Given the description of an element on the screen output the (x, y) to click on. 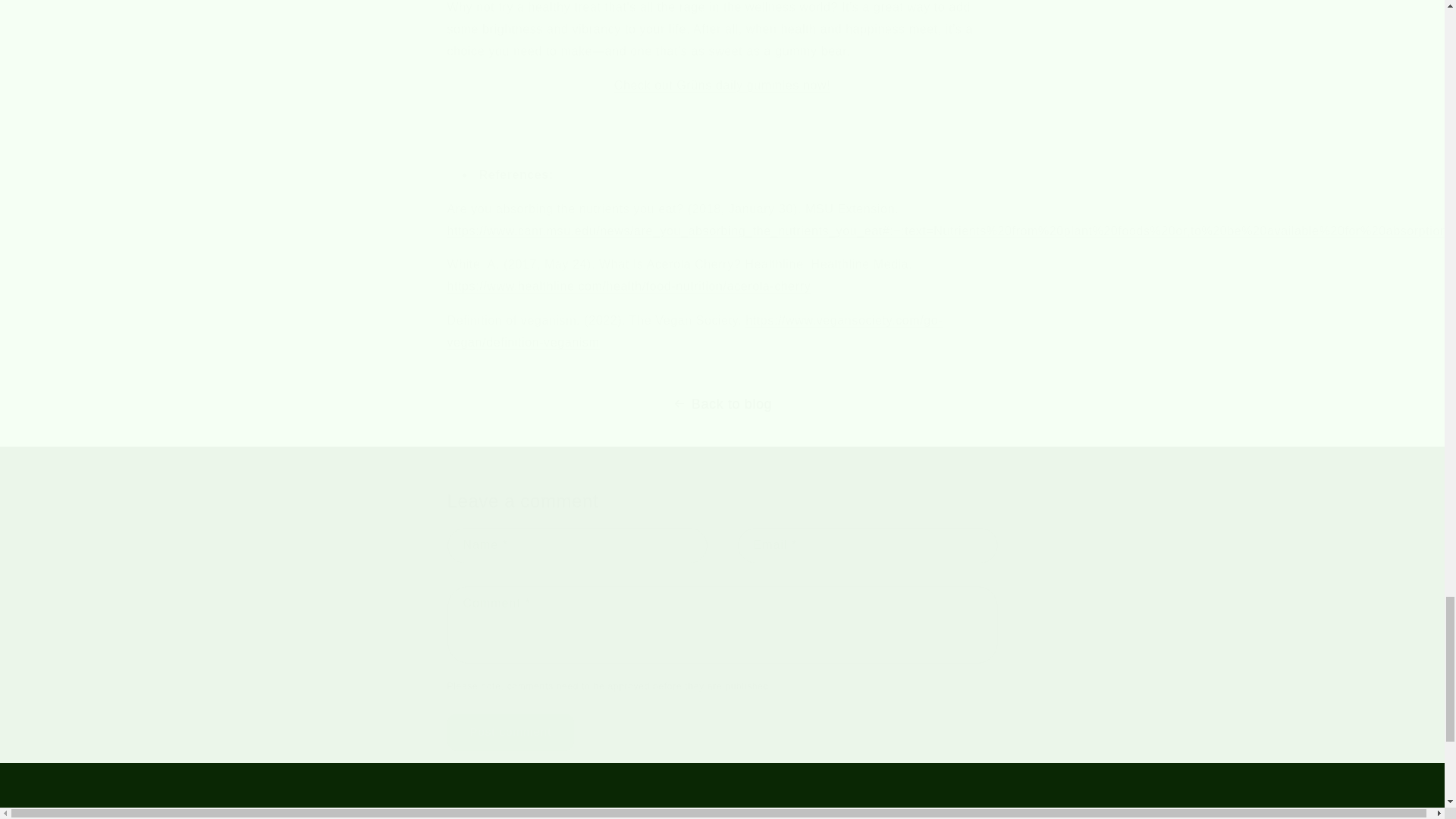
organic multivitamin- gruns (721, 84)
organic multivitamin- gruns (946, 230)
organic multivitamin- gruns (694, 330)
organic multivitamin- gruns (628, 286)
Post comment (510, 732)
Post comment (510, 732)
Back to blog (722, 404)
Back to blog (722, 404)
